Given the description of an element on the screen output the (x, y) to click on. 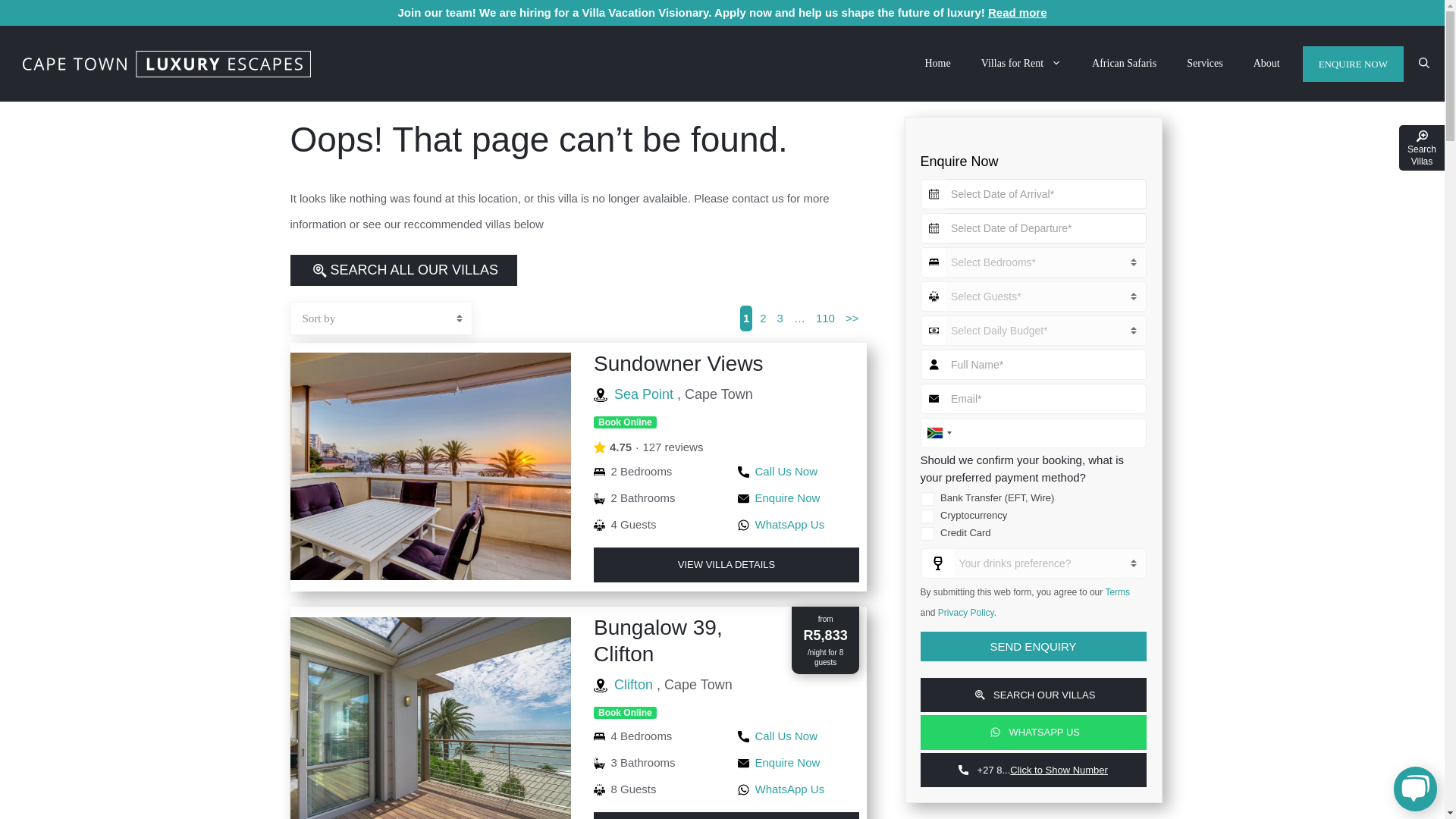
Cape Town Luxury Escapes (167, 64)
ENQUIRE NOW (1353, 63)
Credit Card (927, 533)
Villas for Rent (1021, 63)
Cryptocurrency (927, 516)
African Safaris (1124, 63)
Header Enquire Now Button (1353, 63)
